Given the description of an element on the screen output the (x, y) to click on. 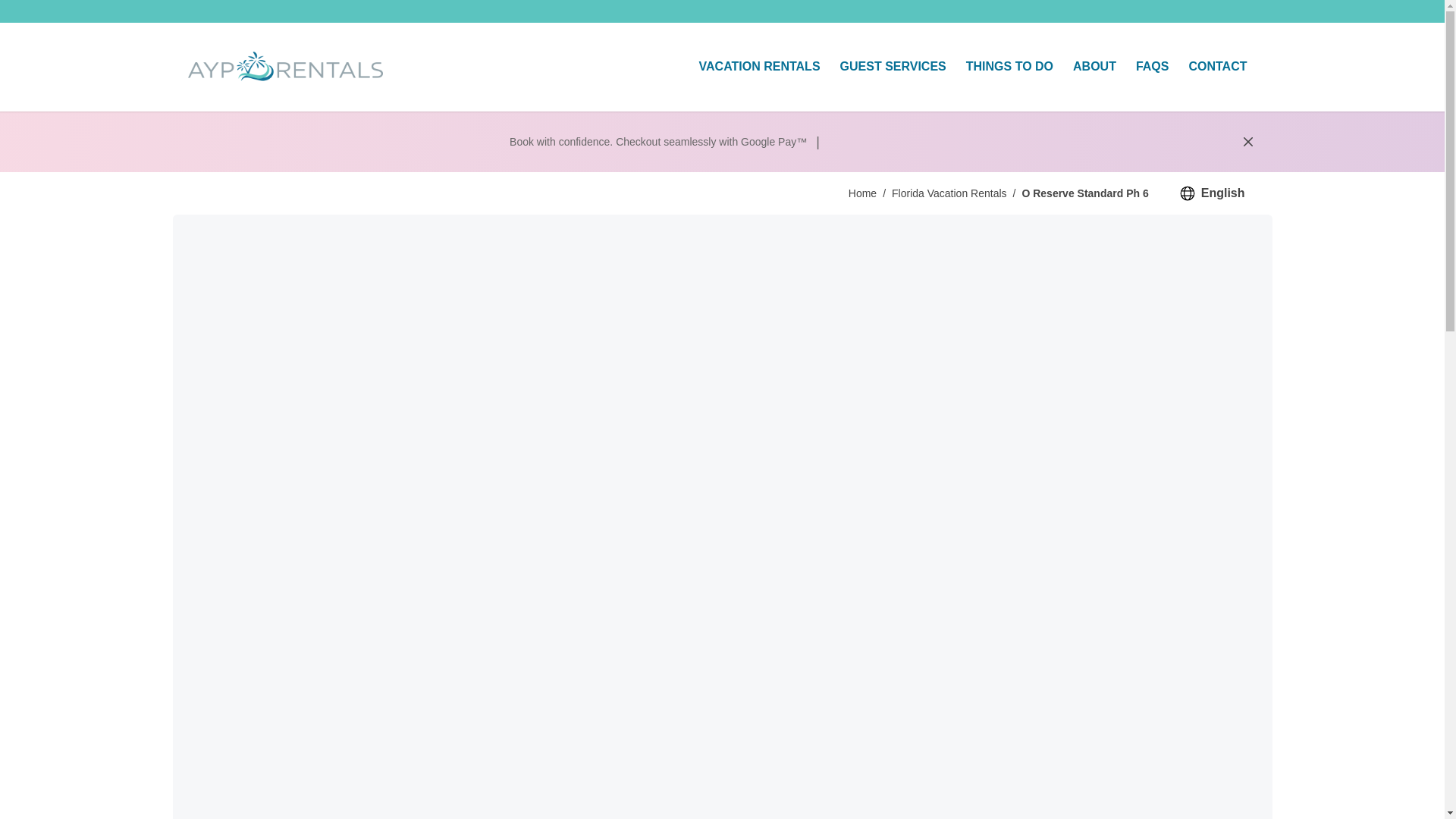
Florida Vacation Rentals (948, 193)
Home (862, 193)
AYP Rentals Logo (284, 66)
THINGS TO DO (1009, 66)
GUEST SERVICES (892, 66)
English (1212, 193)
VACATION RENTALS (758, 66)
